Given the description of an element on the screen output the (x, y) to click on. 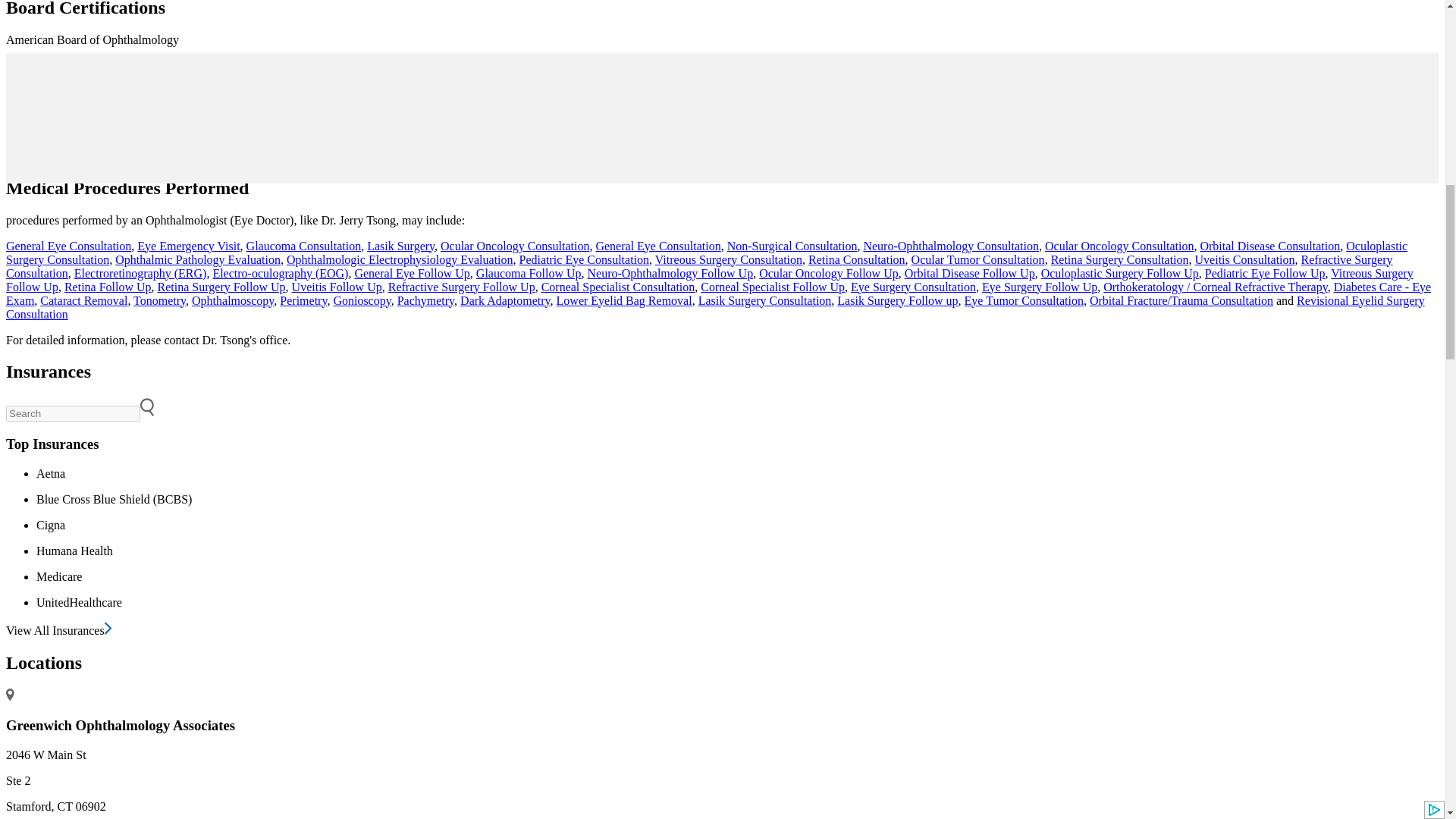
Oculoplastic Surgery Consultation (706, 252)
Retina Consultation (856, 259)
Pediatric Eye Consultation (584, 259)
Non-Surgical Consultation (791, 245)
Optic Neuritis (609, 129)
Chalazion (136, 129)
Ophthalmic Pathology Evaluation (198, 259)
Ocular Oncology Consultation (515, 245)
Glaucoma Consultation (303, 245)
General Eye Consultation (657, 245)
